Given the description of an element on the screen output the (x, y) to click on. 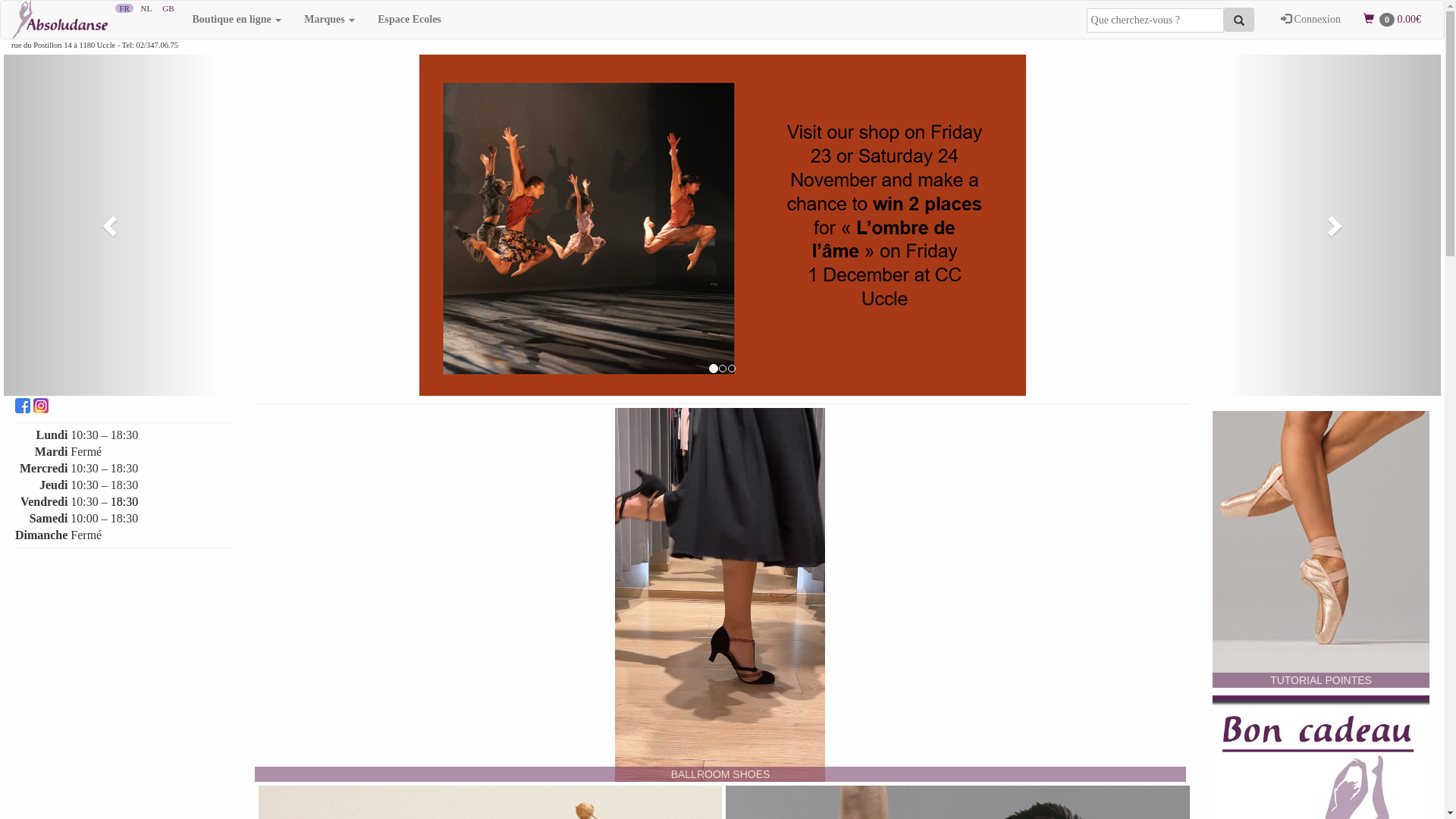
Retrouvez Absoludanse sur Instagram Element type: hover (40, 410)
Previous Element type: text (111, 224)
Next Element type: text (1332, 224)
Retrouvez Absoludanse sur Facebook Element type: hover (24, 410)
  GB   Element type: text (168, 7)
TUTORIAL POINTES Element type: text (1320, 549)
  NL   Element type: text (145, 7)
Marques  Element type: text (329, 19)
 Connexion Element type: text (1310, 19)
Espace Ecoles Element type: text (409, 19)
Your browser does not support the video tag.
BALLROOM SHOES Element type: text (720, 594)
Boutique en ligne  Element type: text (237, 19)
